Given the description of an element on the screen output the (x, y) to click on. 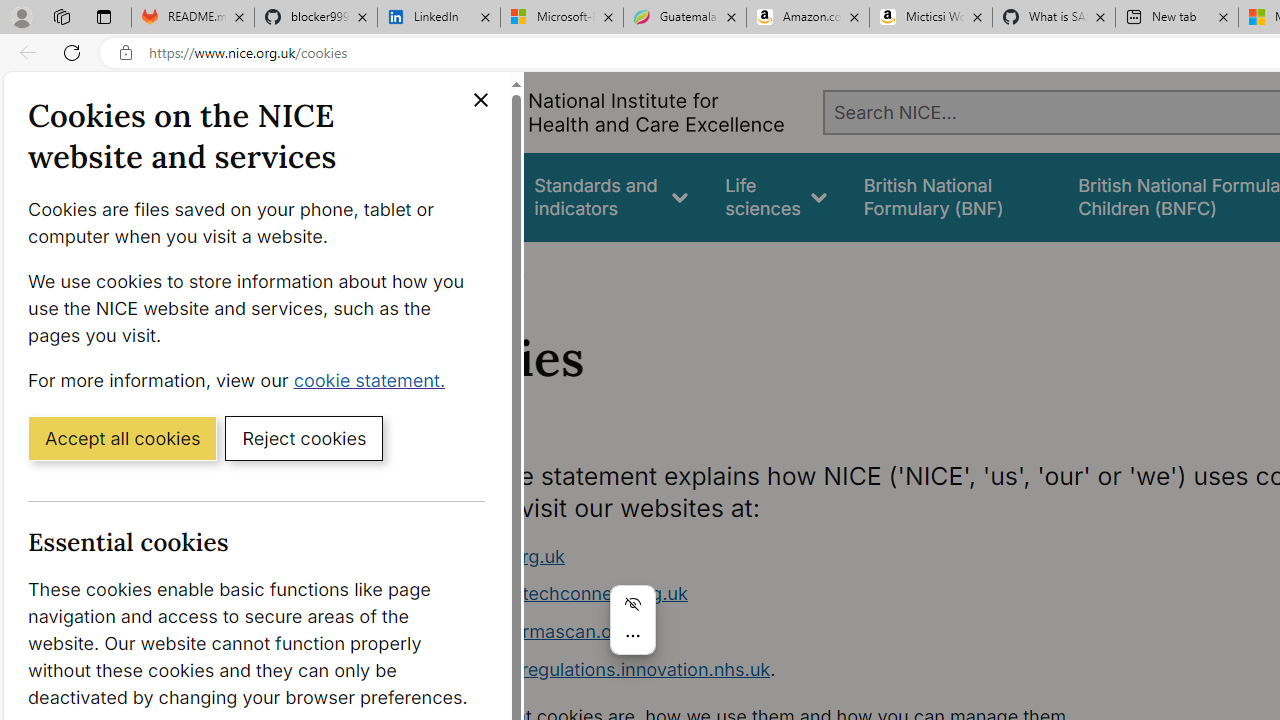
About (498, 268)
www.ukpharmascan.org.uk (796, 632)
Mini menu on text selection (632, 619)
Life sciences (776, 196)
www.nice.org.uk (492, 556)
www.digitalregulations.innovation.nhs.uk (595, 668)
